Given the description of an element on the screen output the (x, y) to click on. 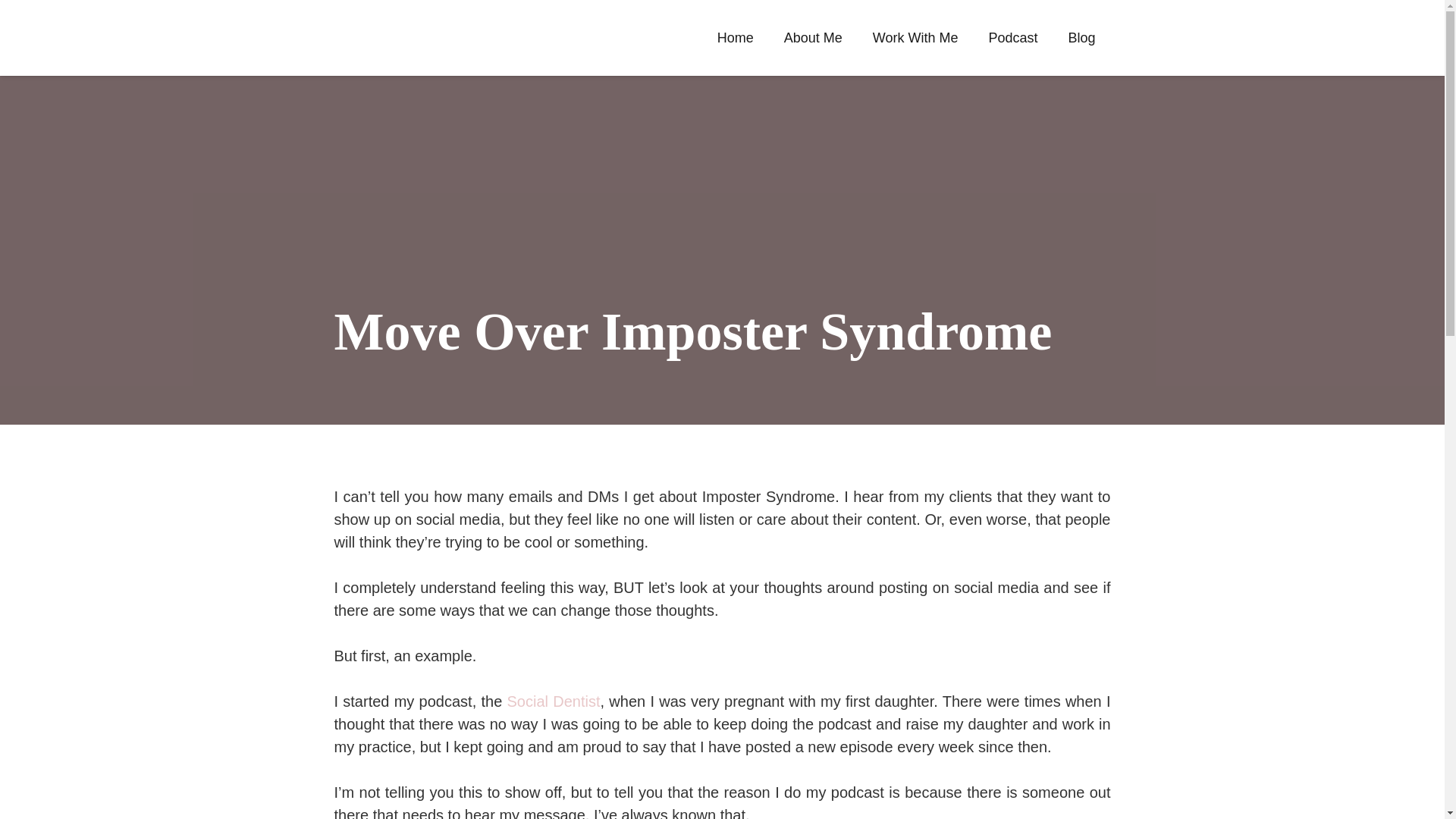
Blog (1080, 37)
Podcast (1012, 37)
About Me (812, 37)
Work With Me (915, 37)
Home (734, 37)
Social Dentist (552, 701)
